Given the description of an element on the screen output the (x, y) to click on. 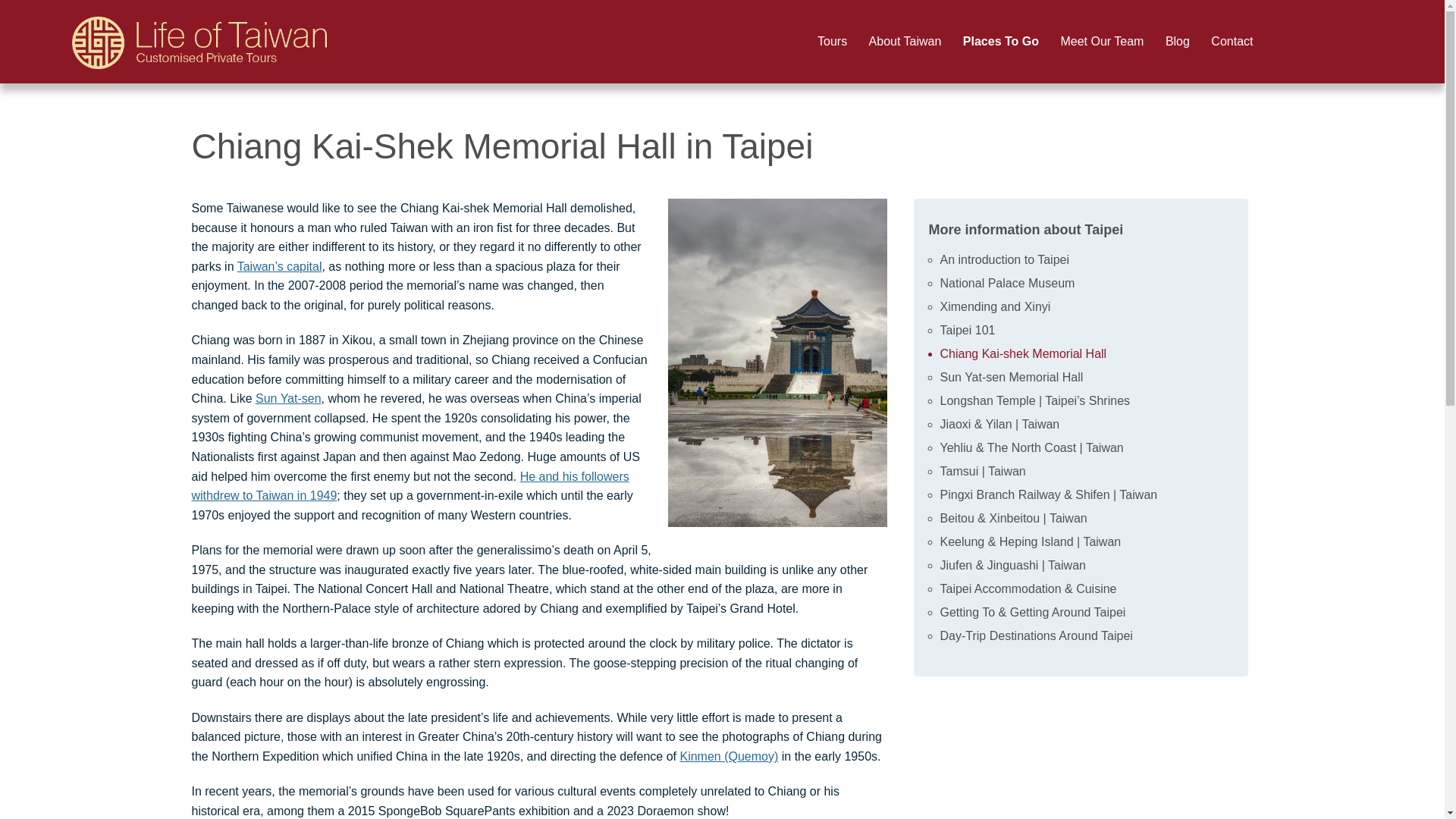
Taipei 101 (967, 329)
He and his followers withdrew to Taiwan in 1949 (409, 486)
Places To Go (1000, 41)
About Taiwan (905, 41)
An introduction to Taipei (1004, 259)
Life of Taiwan (200, 35)
Meet Our Team (1102, 41)
Day-Trip Destinations Around Taipei (1036, 635)
Sun Yat-sen (288, 398)
Sun Yat-sen Memorial Hall (1011, 377)
